Given the description of an element on the screen output the (x, y) to click on. 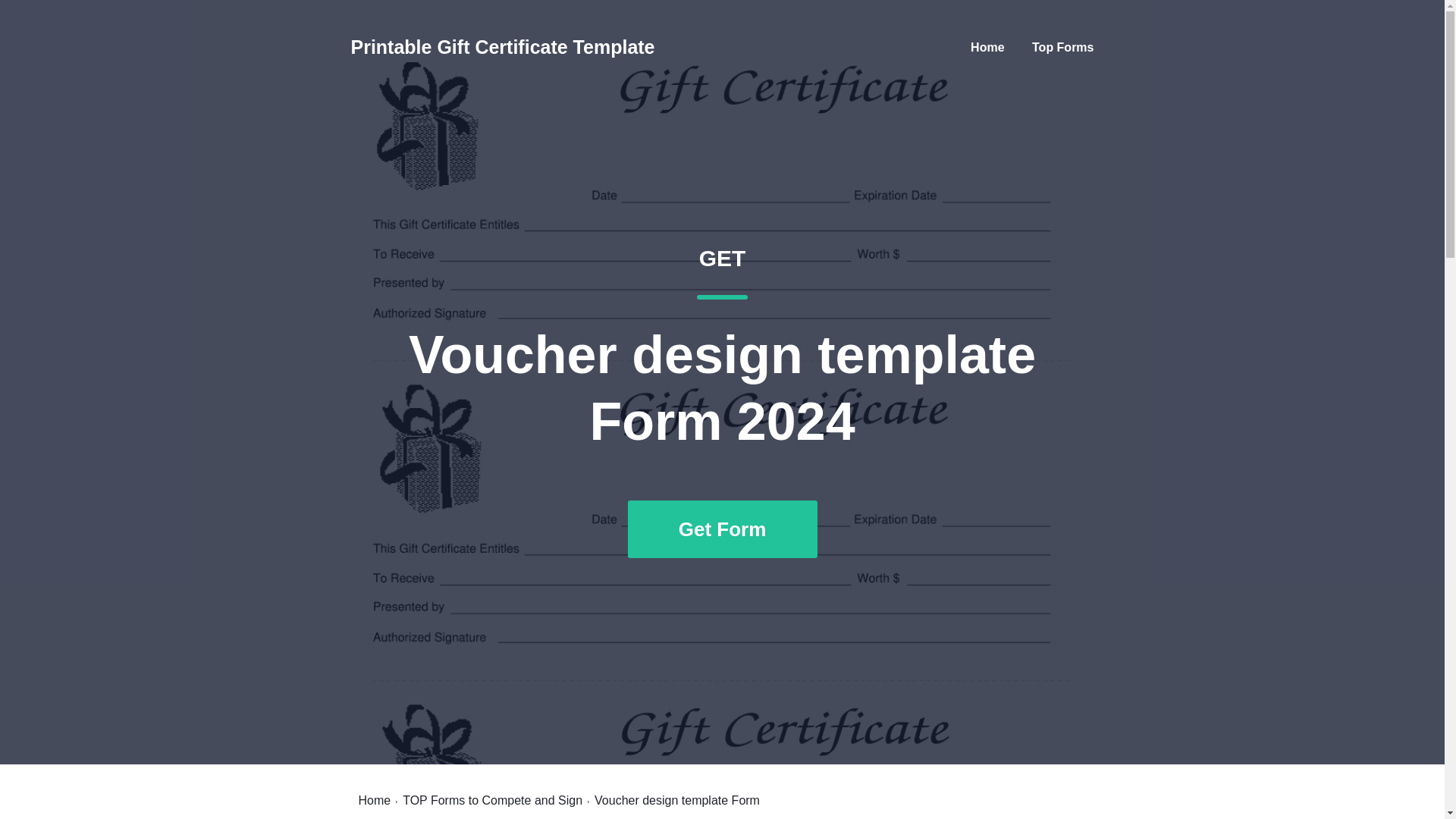
Home (987, 47)
Top Forms (501, 46)
TOP Forms to Compete and Sign (1062, 47)
Home (492, 800)
